Given the description of an element on the screen output the (x, y) to click on. 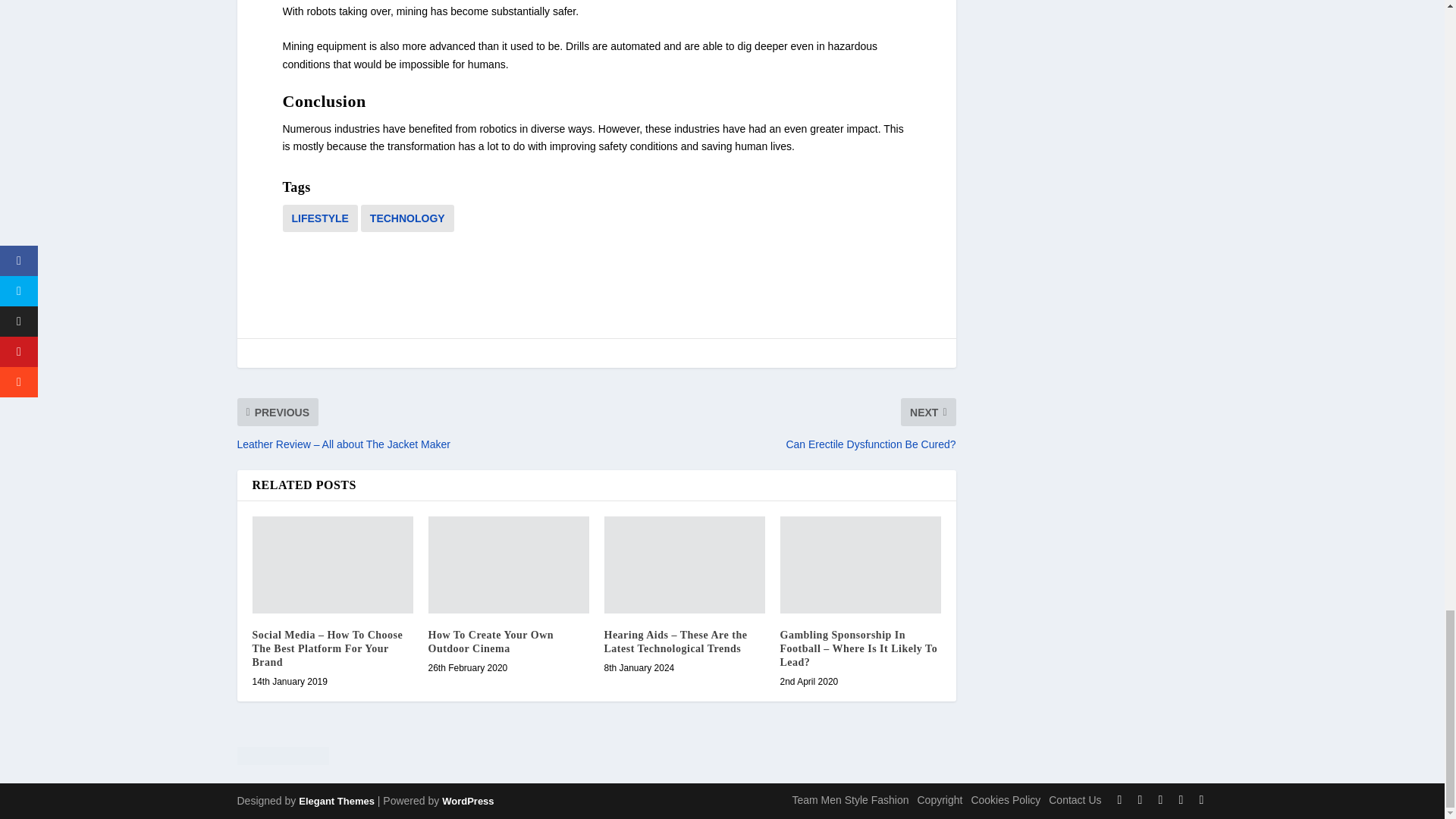
Technology (407, 217)
How To Create Your Own Outdoor Cinema (508, 564)
DMCA.com Protection Status (595, 758)
lifestyle (319, 217)
